Given the description of an element on the screen output the (x, y) to click on. 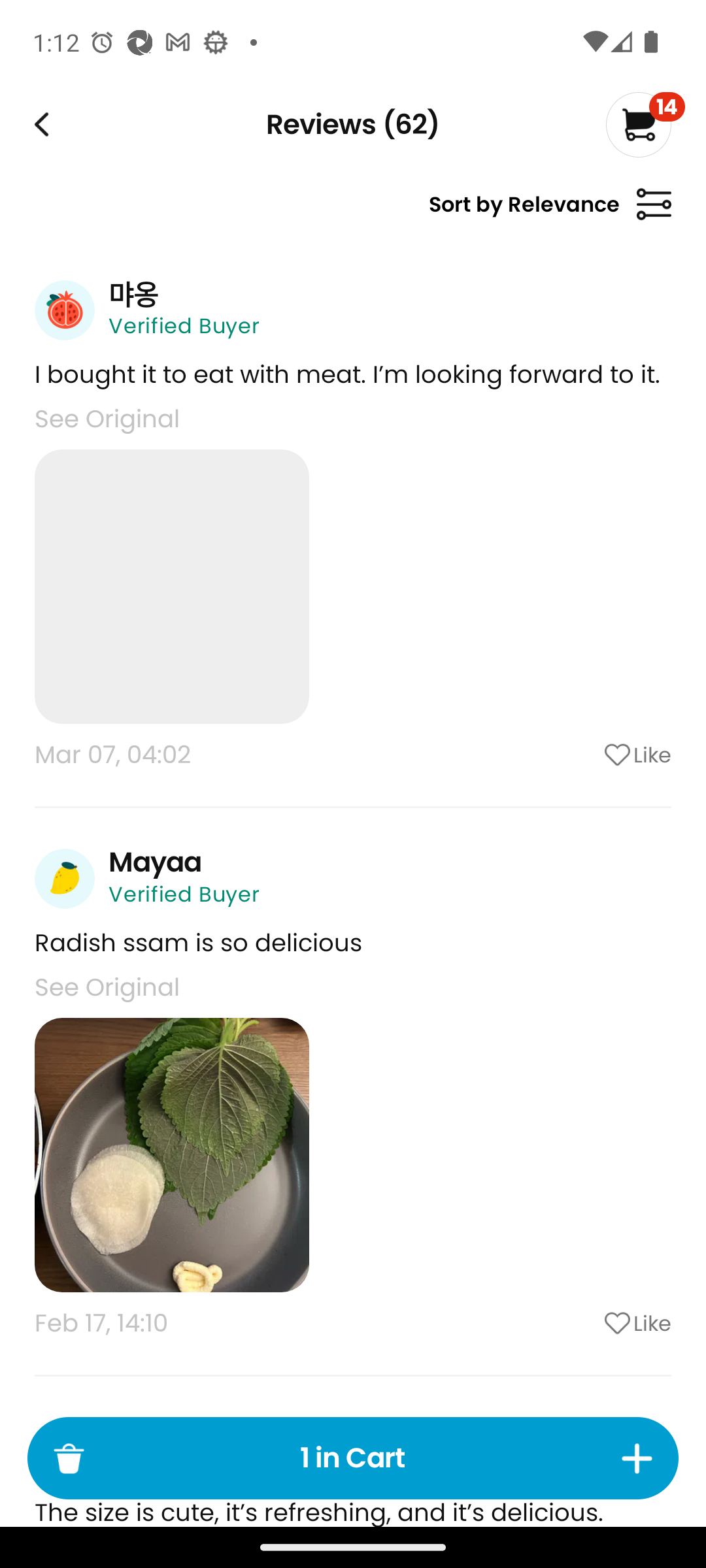
14 (644, 124)
Sort by Relevance (549, 212)
먀옹 (133, 293)
Verified Buyer (183, 325)
See Original (107, 418)
Like (585, 754)
Mayaa (154, 862)
Verified Buyer (183, 894)
See Original (107, 986)
Like (585, 1323)
1 in Cart (352, 1458)
